Given the description of an element on the screen output the (x, y) to click on. 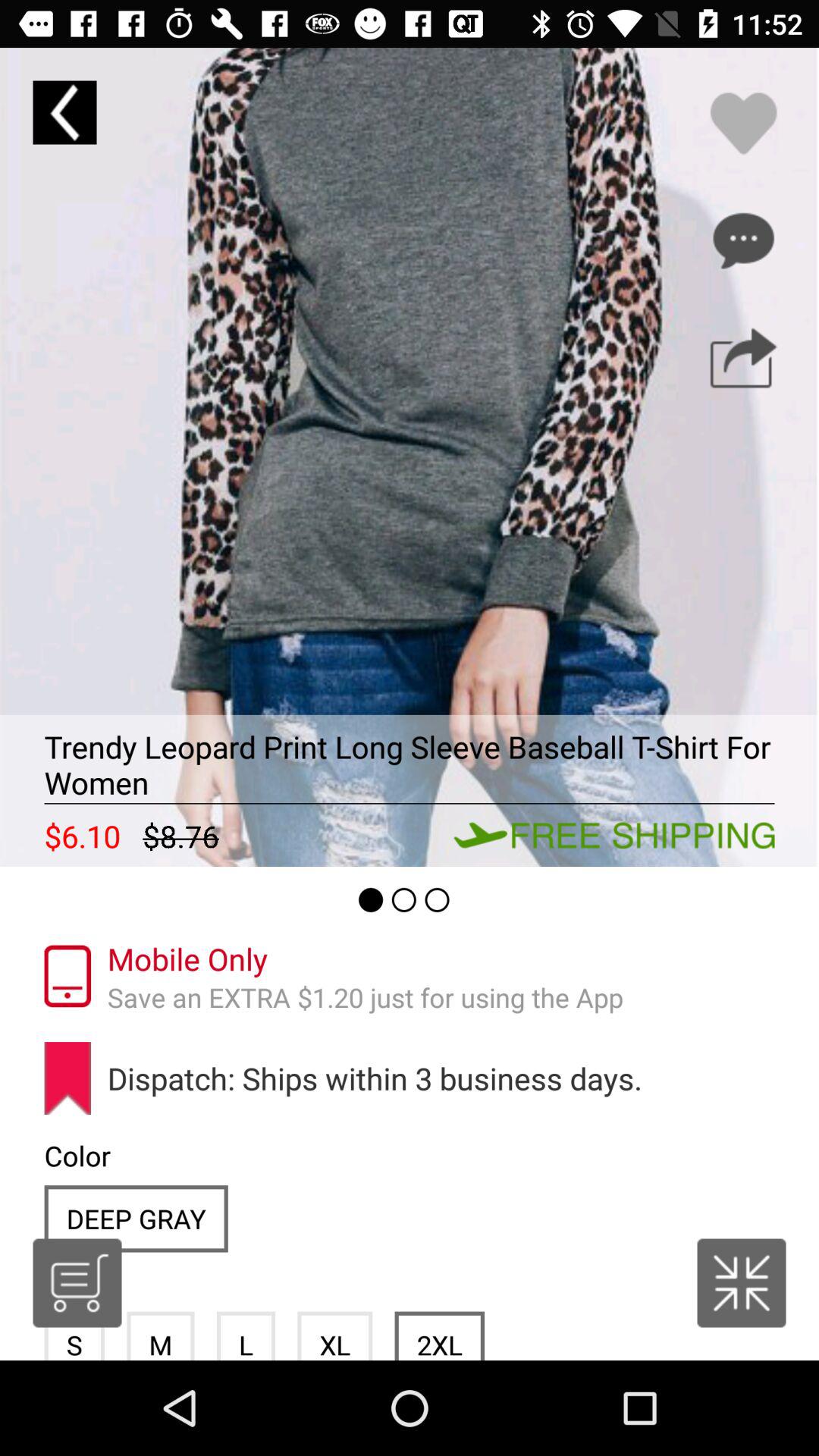
checkout (76, 1282)
